Given the description of an element on the screen output the (x, y) to click on. 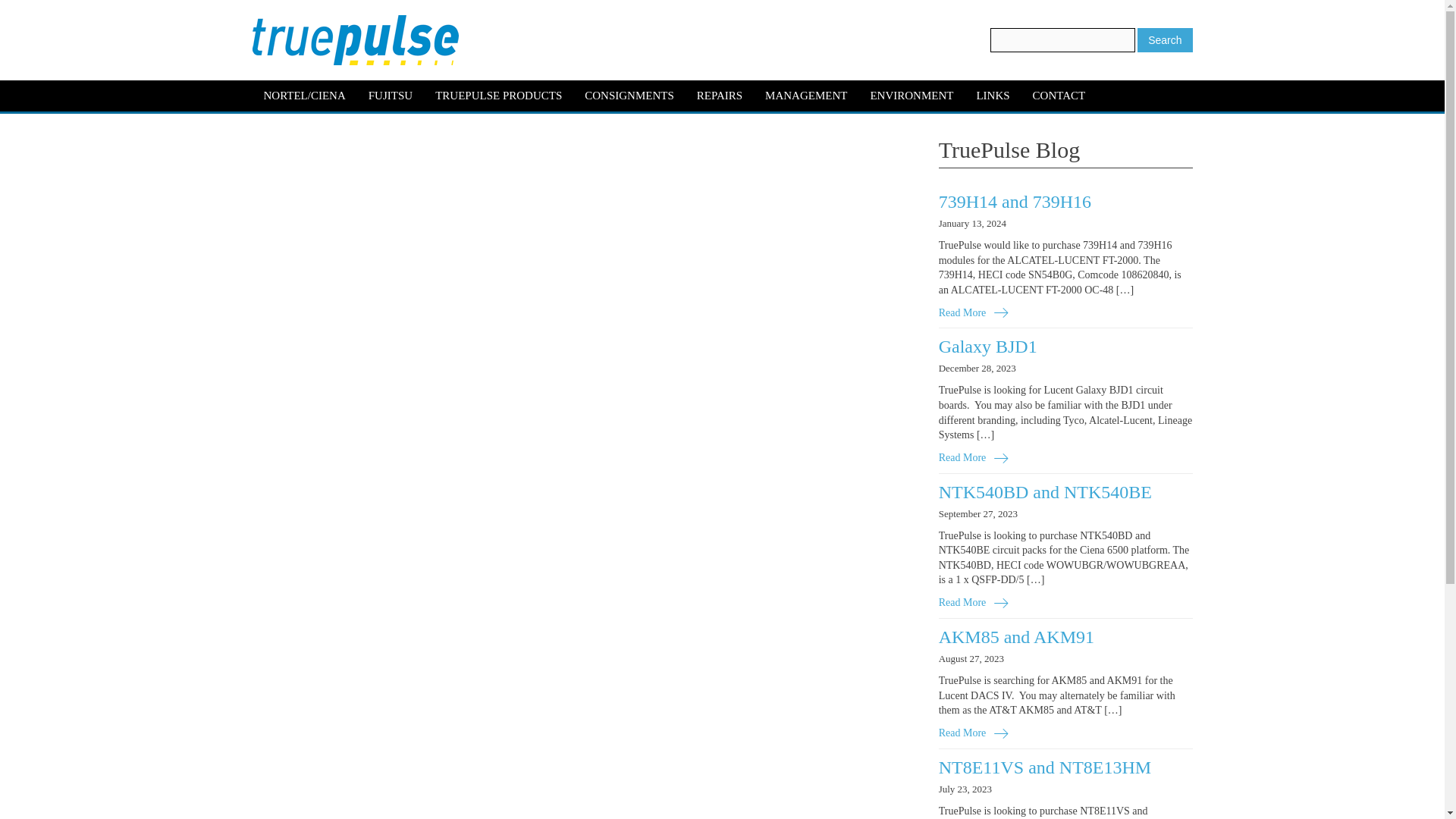
Galaxy BJD1 (987, 346)
ENVIRONMENT (911, 95)
MANAGEMENT (806, 95)
NT8E11VS and NT8E13HM (1045, 767)
Read More (974, 458)
Read More (974, 602)
Search (1164, 39)
FUJITSU (389, 95)
CONSIGNMENTS (629, 95)
739H14 and 739H16 (1014, 201)
CONTACT (1059, 95)
Search (1164, 39)
Read More (974, 312)
AKM85 and AKM91 (1016, 637)
Read More (974, 733)
